Given the description of an element on the screen output the (x, y) to click on. 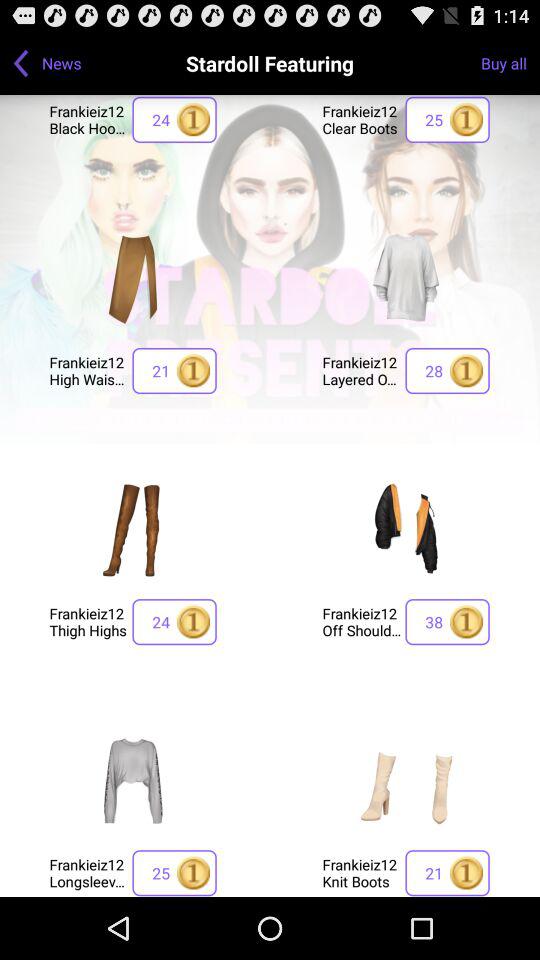
open the icon to the left of 28 button (361, 370)
